Given the description of an element on the screen output the (x, y) to click on. 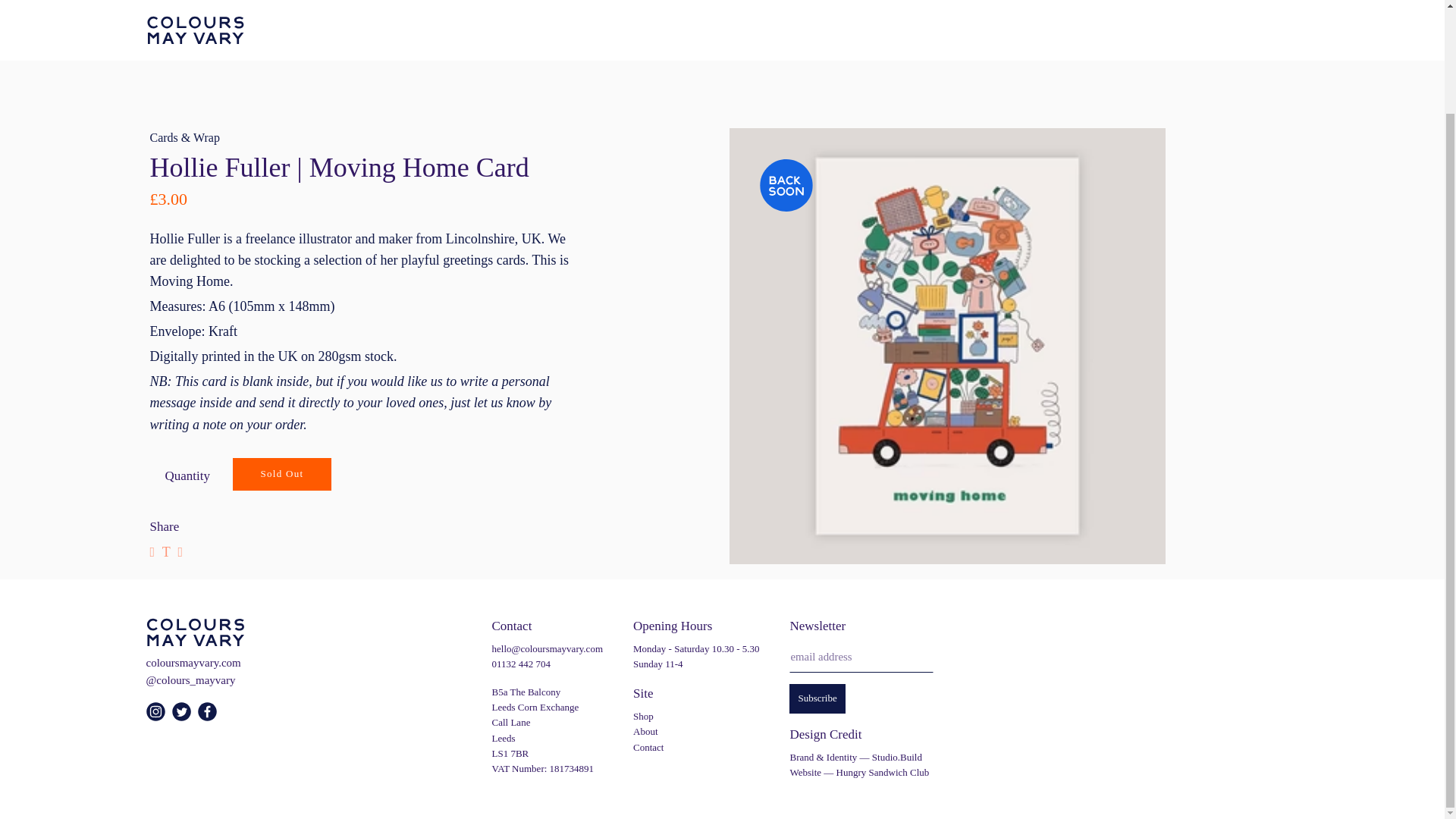
Apparel and Accessories (486, 11)
Mini Stories By Scout Editions (437, 44)
Colours May Vary on Instagram (156, 716)
Subscribe (816, 697)
Stationery (661, 11)
Colours May Vary on Twitter (183, 716)
All (158, 11)
Homeware (364, 11)
Studio Arhoj (582, 44)
Prints (594, 11)
Music (929, 11)
Studio Arhoj (852, 11)
Sold Out (281, 473)
Colours May Vary on Facebook (209, 716)
Magazines (281, 11)
